Given the description of an element on the screen output the (x, y) to click on. 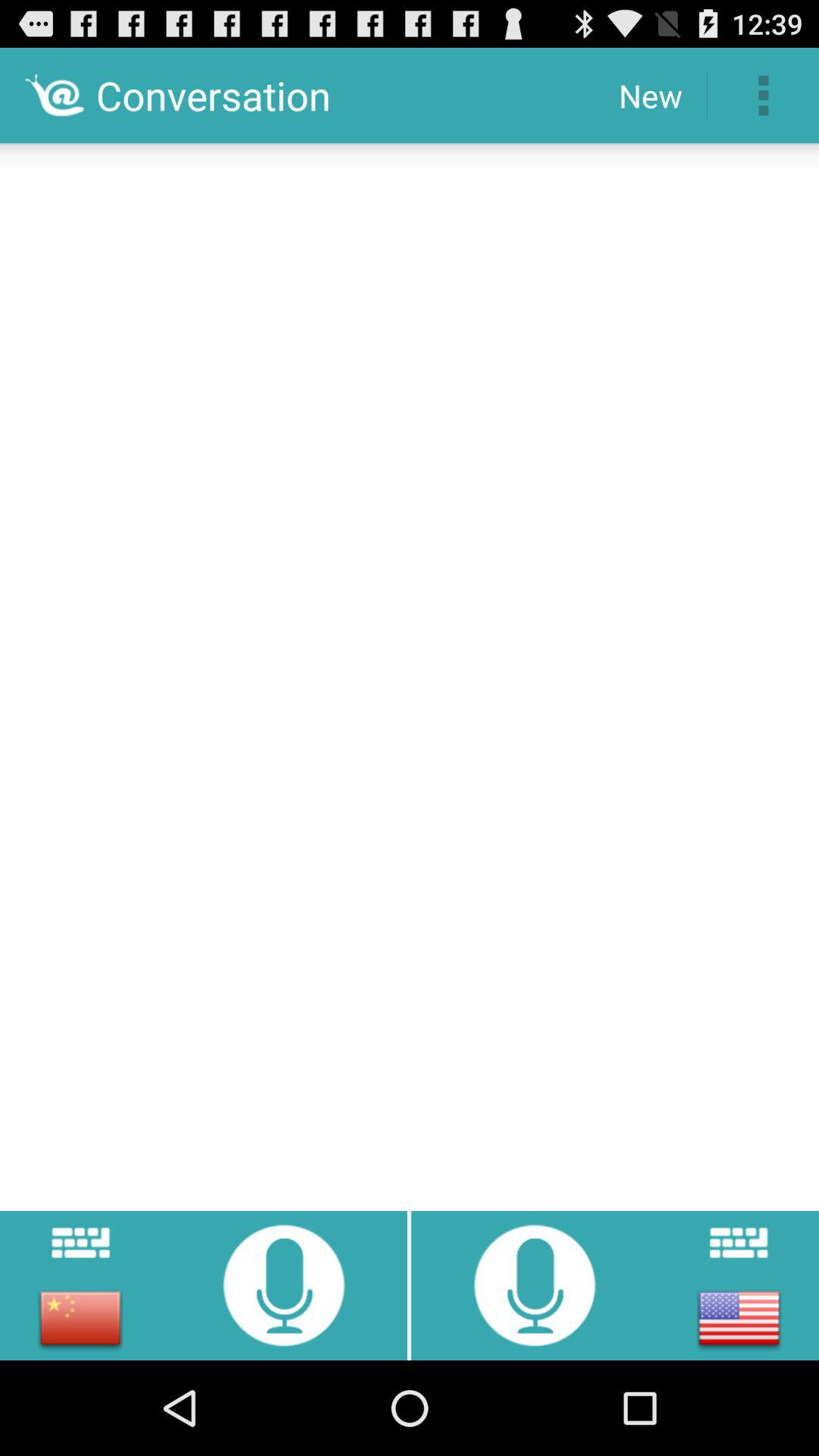
click item next to new icon (763, 95)
